Given the description of an element on the screen output the (x, y) to click on. 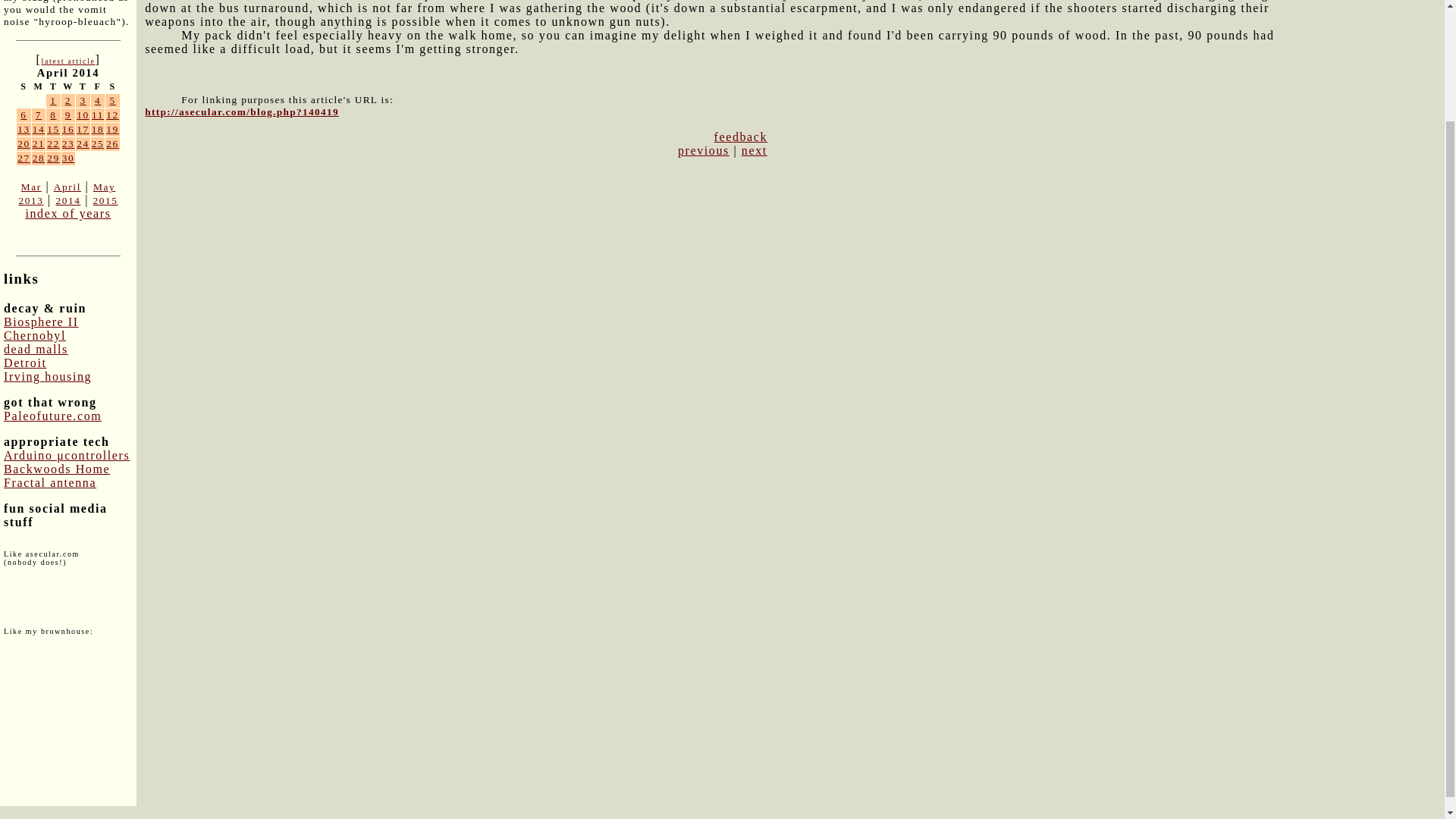
25 (97, 143)
2013 (30, 200)
12 (112, 114)
Biosphere II (41, 321)
latest article (67, 60)
28 (38, 157)
Mar (31, 186)
18 (97, 129)
14 (38, 129)
April (67, 186)
22 (52, 143)
10 (82, 114)
15 (52, 129)
2015 (105, 200)
19 (112, 129)
